Given the description of an element on the screen output the (x, y) to click on. 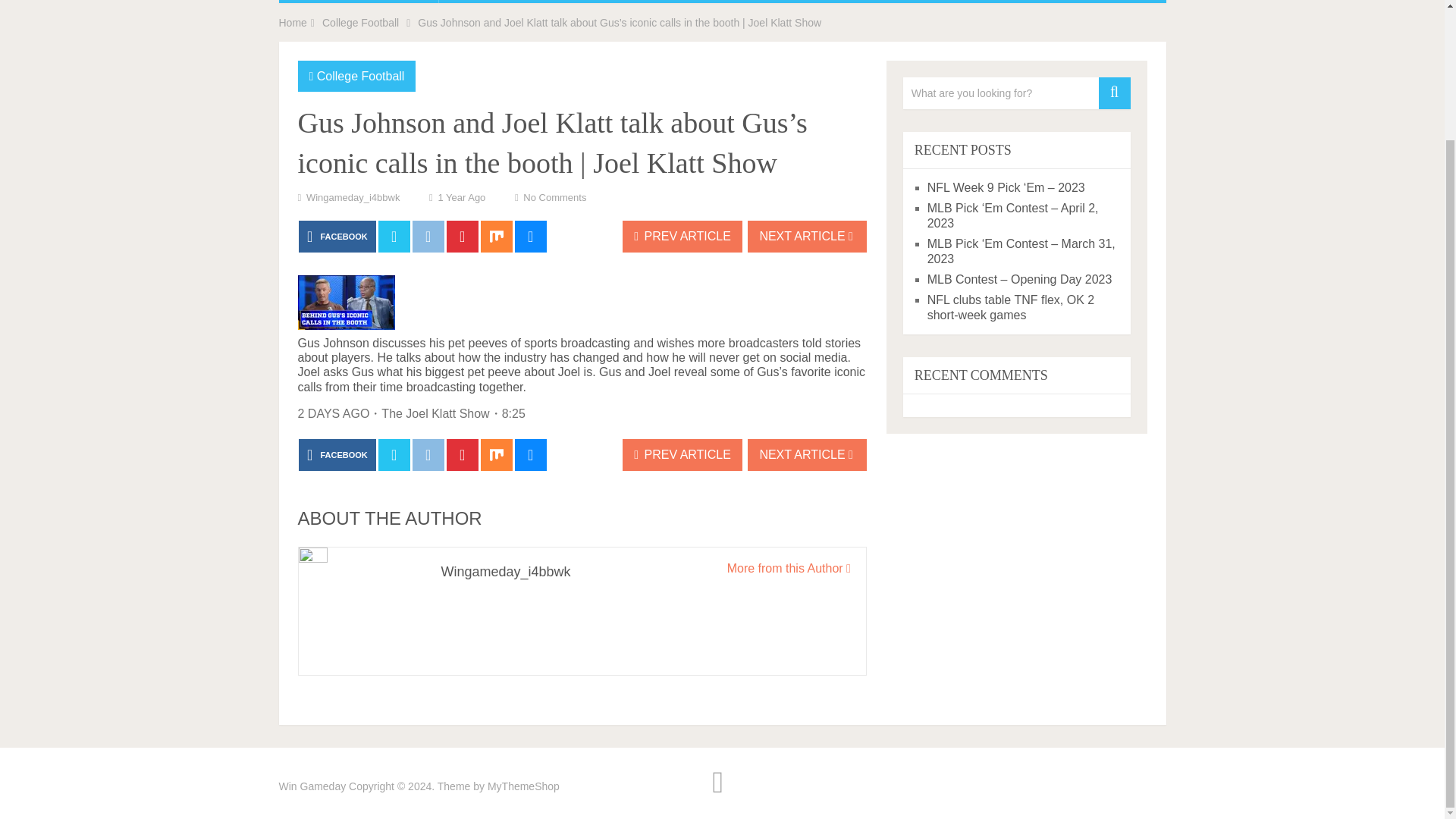
PREV ARTICLE (682, 454)
NEXT ARTICLE (807, 454)
FACEBOOK (336, 454)
More from this Author (788, 567)
No Comments (554, 197)
UNCATEGORIZED (358, 1)
NEXT ARTICLE (807, 236)
View all posts in College Football (360, 75)
FACEBOOK (336, 236)
College Football (359, 22)
 What You Read to Win (312, 786)
PREV ARTICLE (682, 236)
College Football (360, 75)
Home (293, 22)
